Given the description of an element on the screen output the (x, y) to click on. 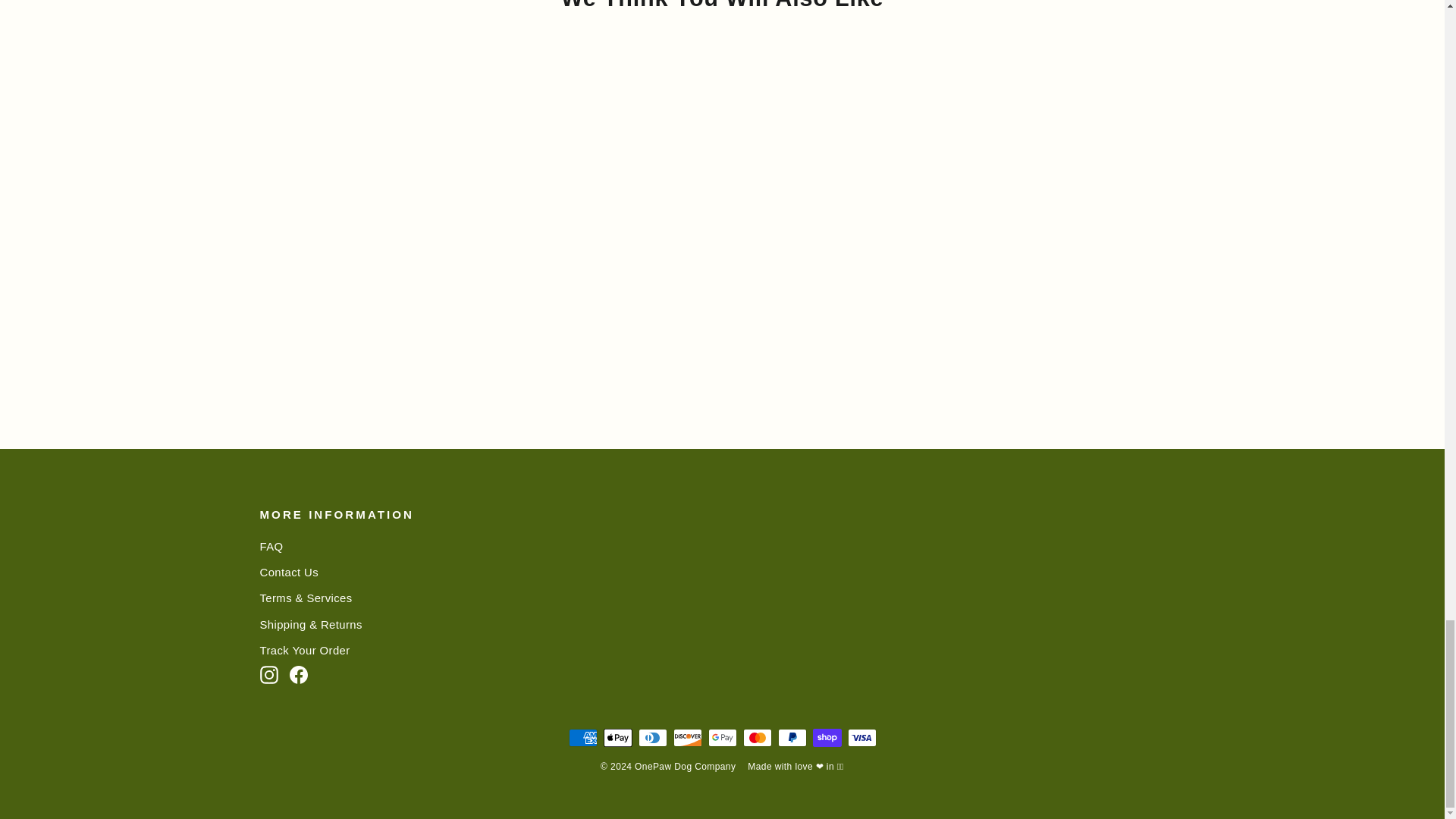
American Express (582, 737)
OnePaw Dog Company on Instagram (268, 674)
Diners Club (652, 737)
Apple Pay (617, 737)
Mastercard (756, 737)
OnePaw Dog Company on Facebook (298, 674)
Discover (686, 737)
Google Pay (721, 737)
